Given the description of an element on the screen output the (x, y) to click on. 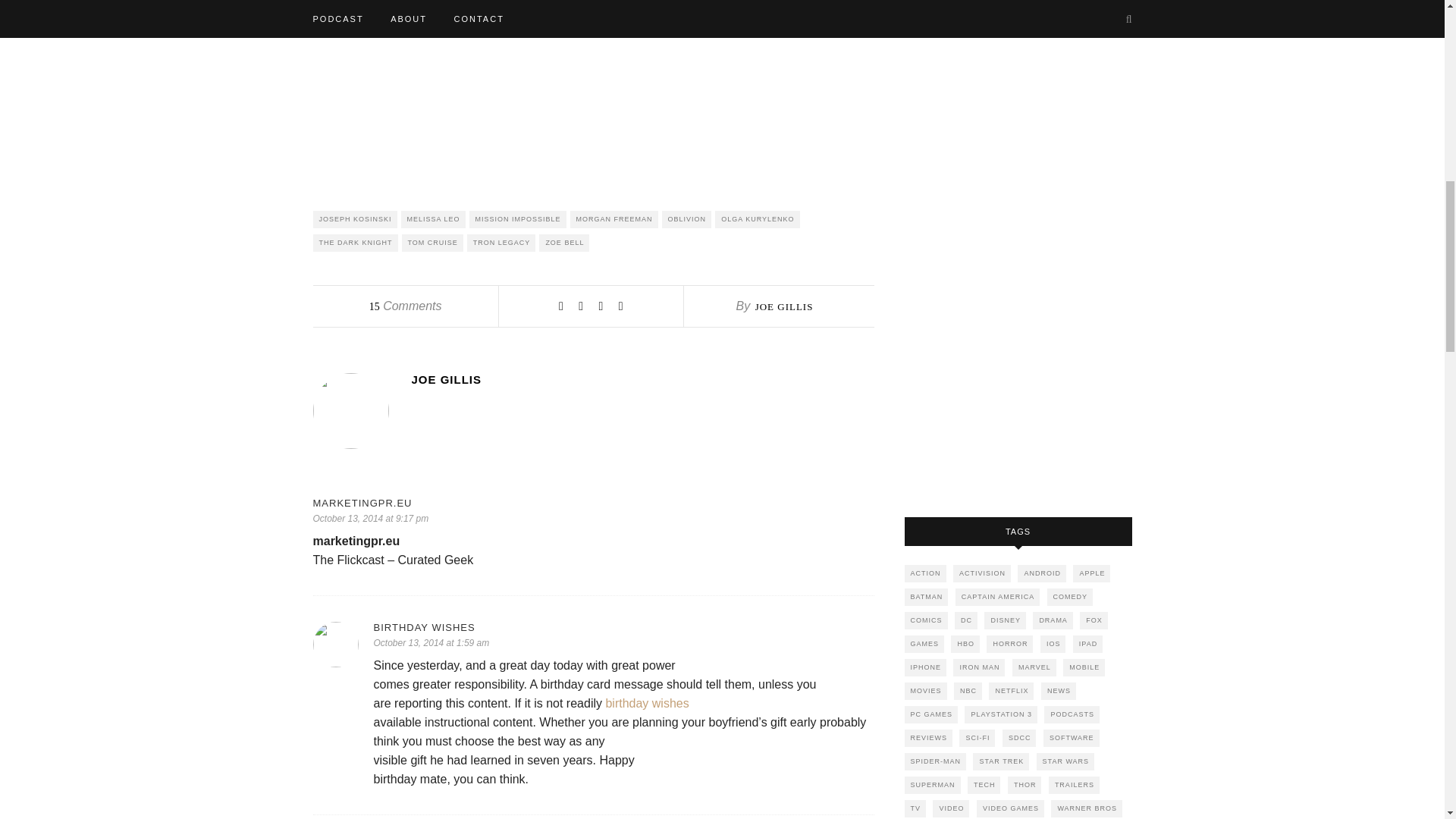
MELISSA LEO (433, 219)
THE DARK KNIGHT (355, 242)
OBLIVION (686, 219)
TOM CRUISE (432, 242)
Posts by Joe Gillis (784, 306)
ZOE BELL (563, 242)
Posts by Joe Gillis (641, 379)
TRON LEGACY (501, 242)
15 Comments (405, 305)
OLGA KURYLENKO (756, 219)
MISSION IMPOSSIBLE (517, 219)
JOSEPH KOSINSKI (354, 219)
MARKETINGPR.EU (593, 502)
BIRTHDAY WISHES (622, 627)
MORGAN FREEMAN (614, 219)
